Given the description of an element on the screen output the (x, y) to click on. 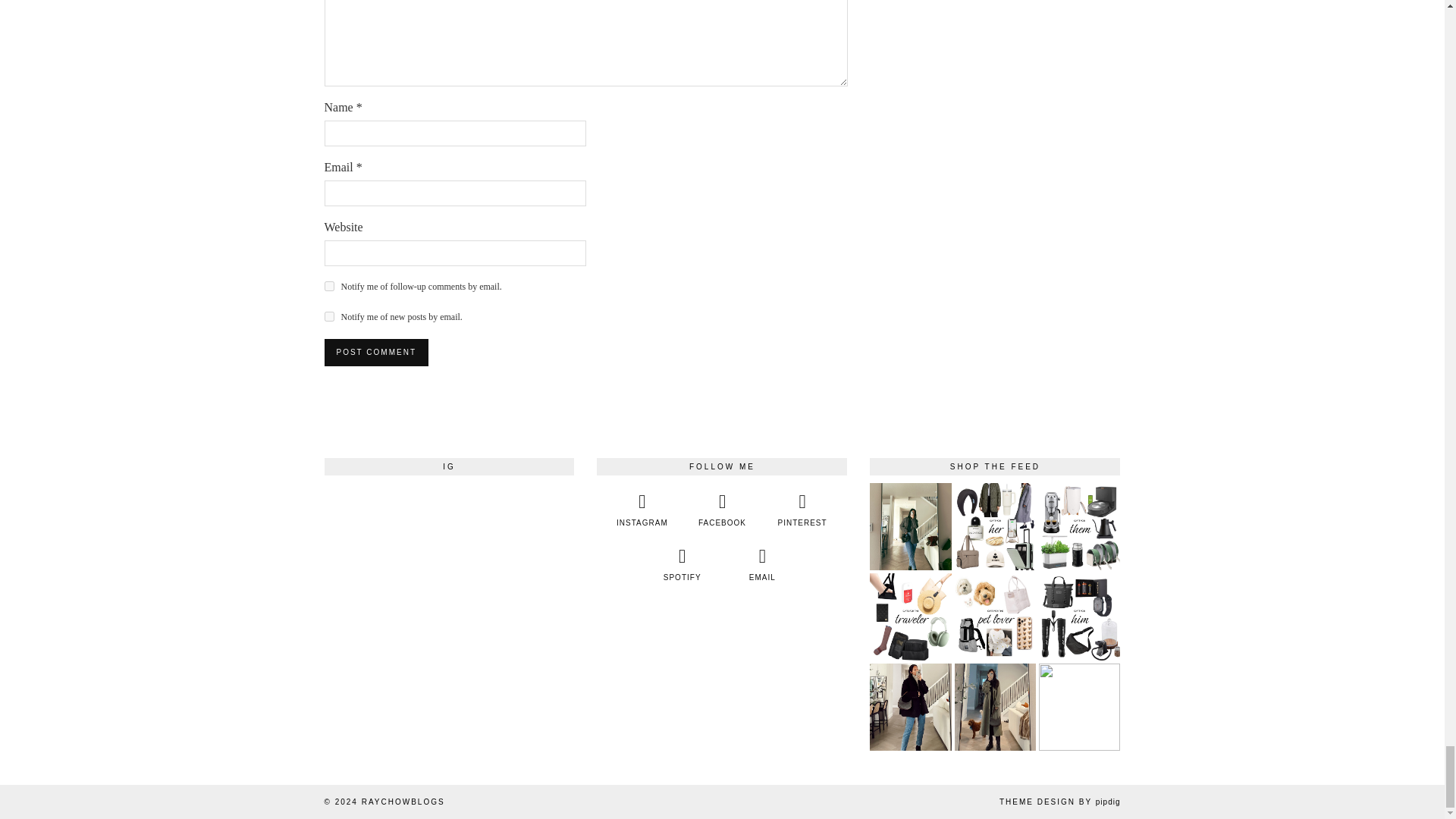
Post Comment (376, 352)
subscribe (329, 286)
subscribe (329, 316)
